Given the description of an element on the screen output the (x, y) to click on. 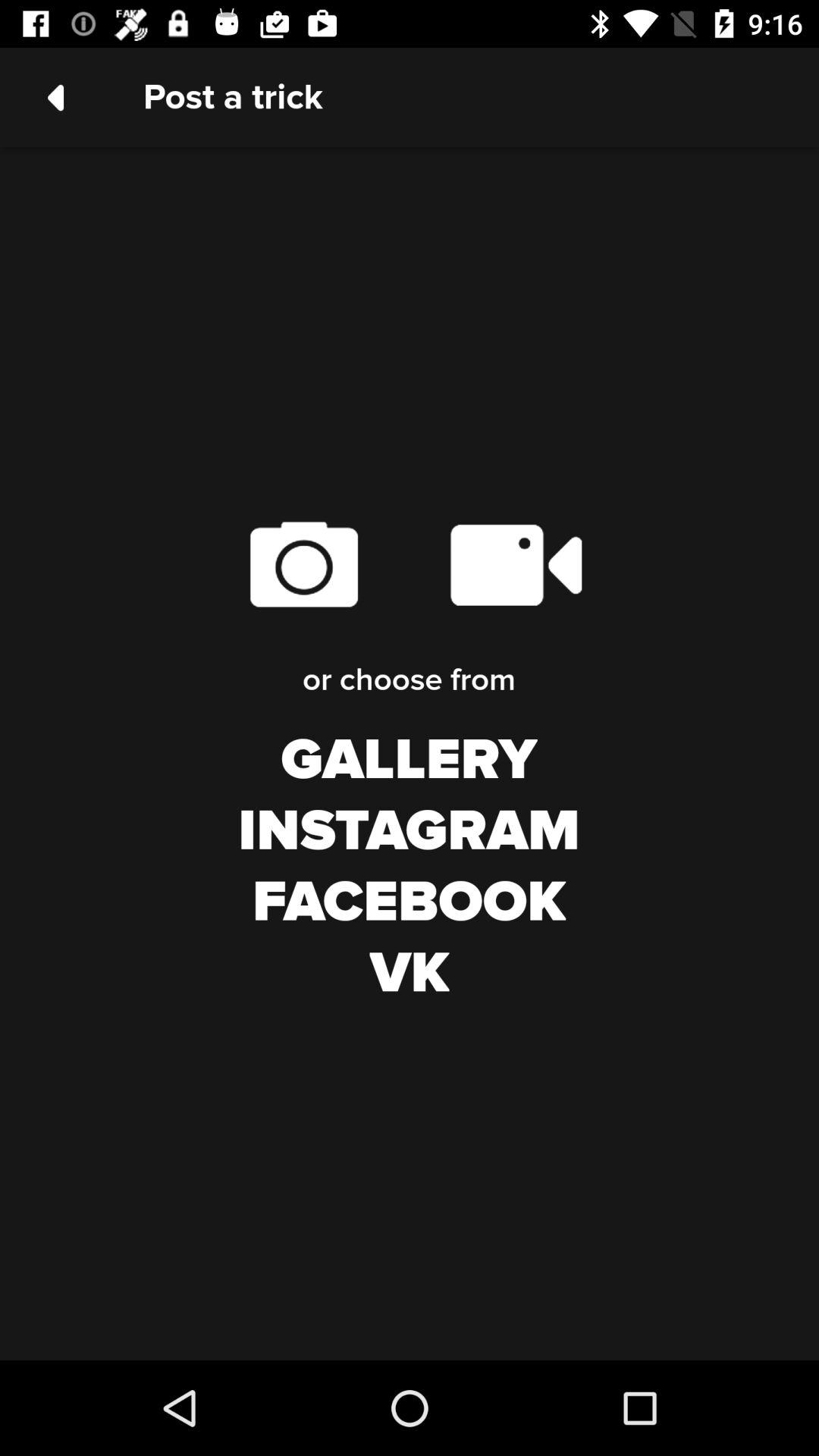
click the instagram item (409, 831)
